Given the description of an element on the screen output the (x, y) to click on. 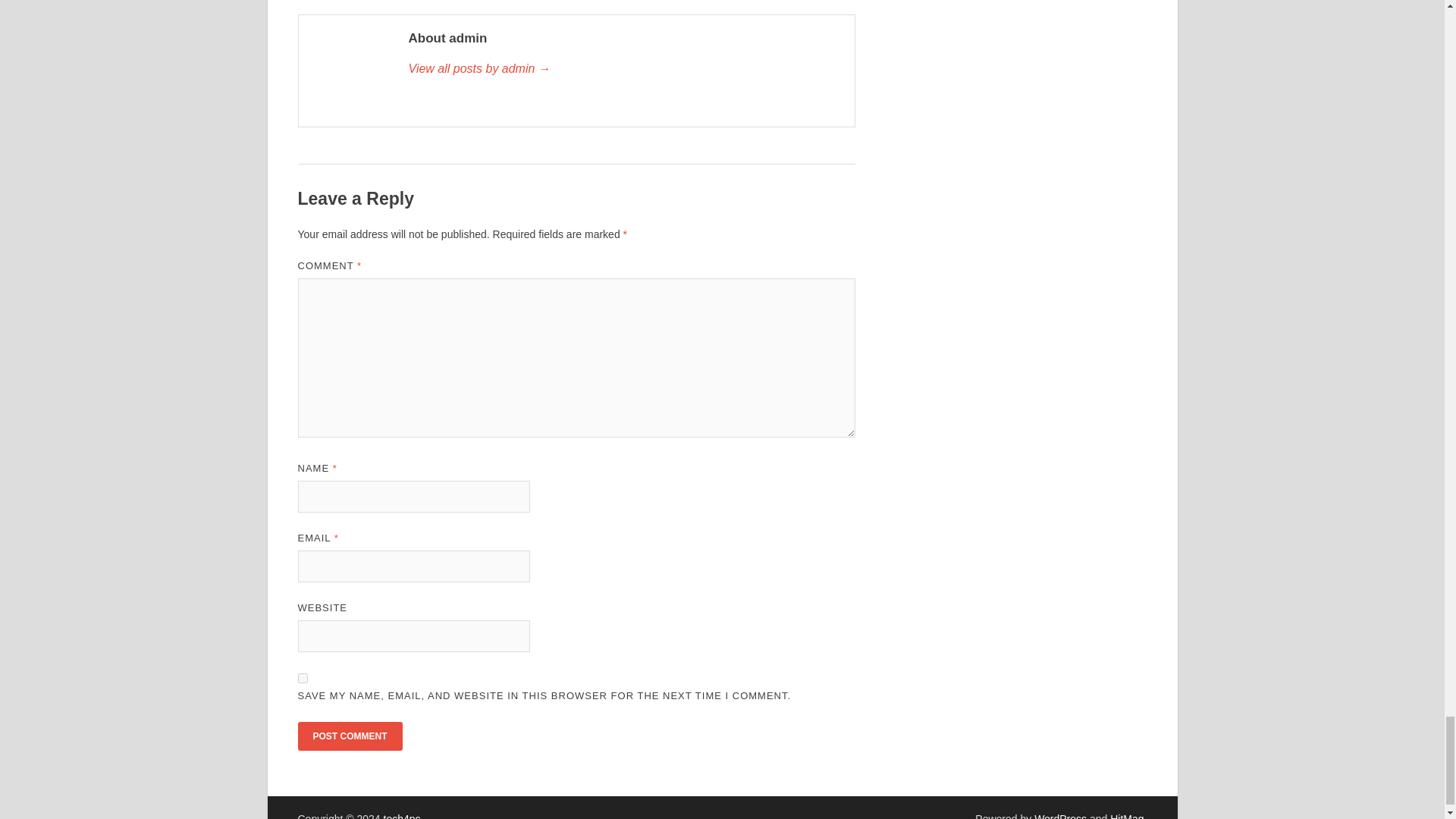
admin (622, 68)
Post Comment (349, 736)
yes (302, 678)
